Given the description of an element on the screen output the (x, y) to click on. 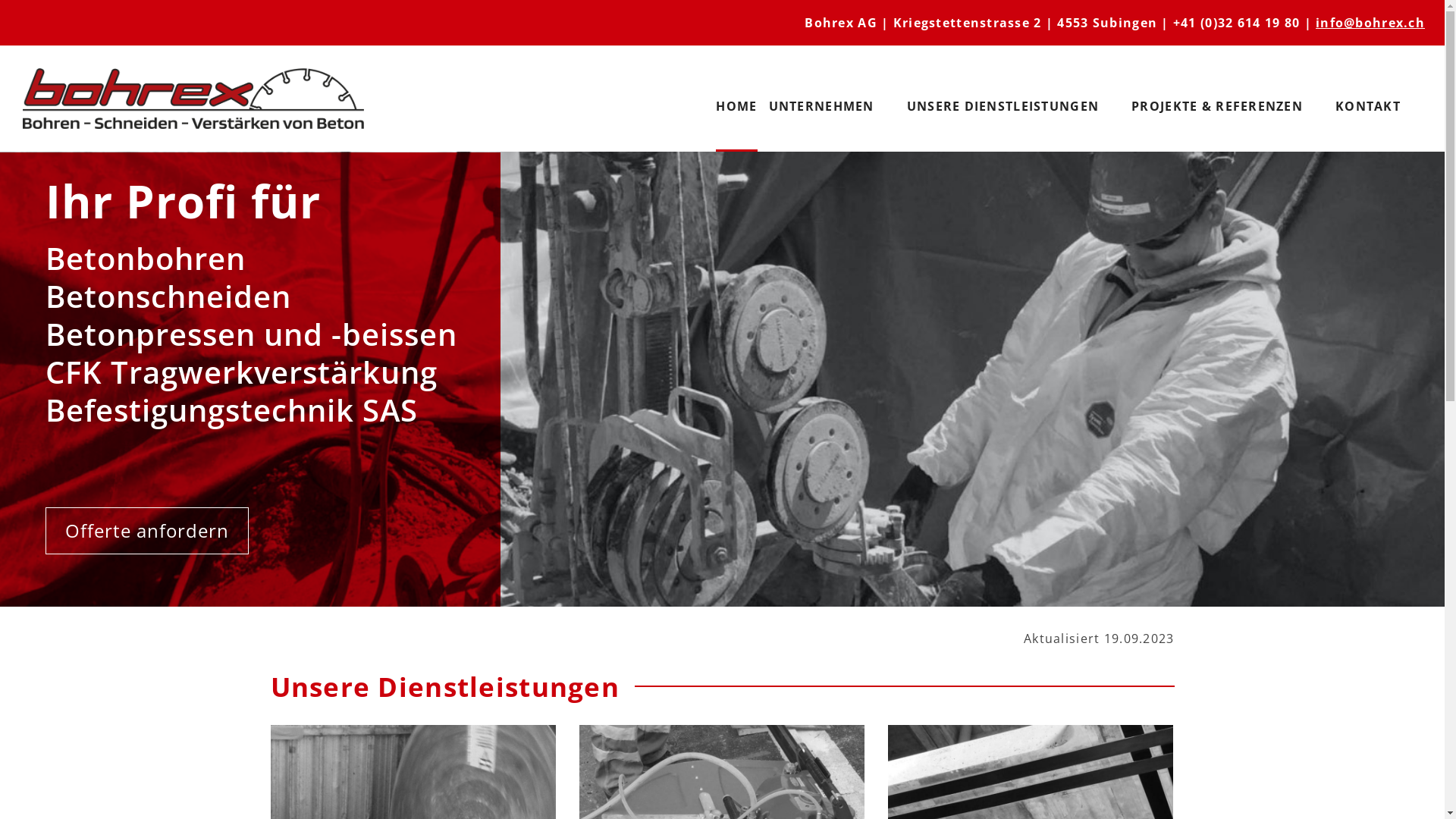
Offerte anfordern Element type: text (146, 530)
UNTERNEHMEN Element type: text (821, 105)
KONTAKT Element type: text (1368, 105)
PROJEKTE & REFERENZEN Element type: text (1217, 105)
HOME Element type: text (735, 105)
Logo Bohrex_RGB Element type: hover (193, 98)
info@bohrex.ch Element type: text (1369, 22)
UNSERE DIENSTLEISTUNGEN Element type: text (1002, 105)
